Given the description of an element on the screen output the (x, y) to click on. 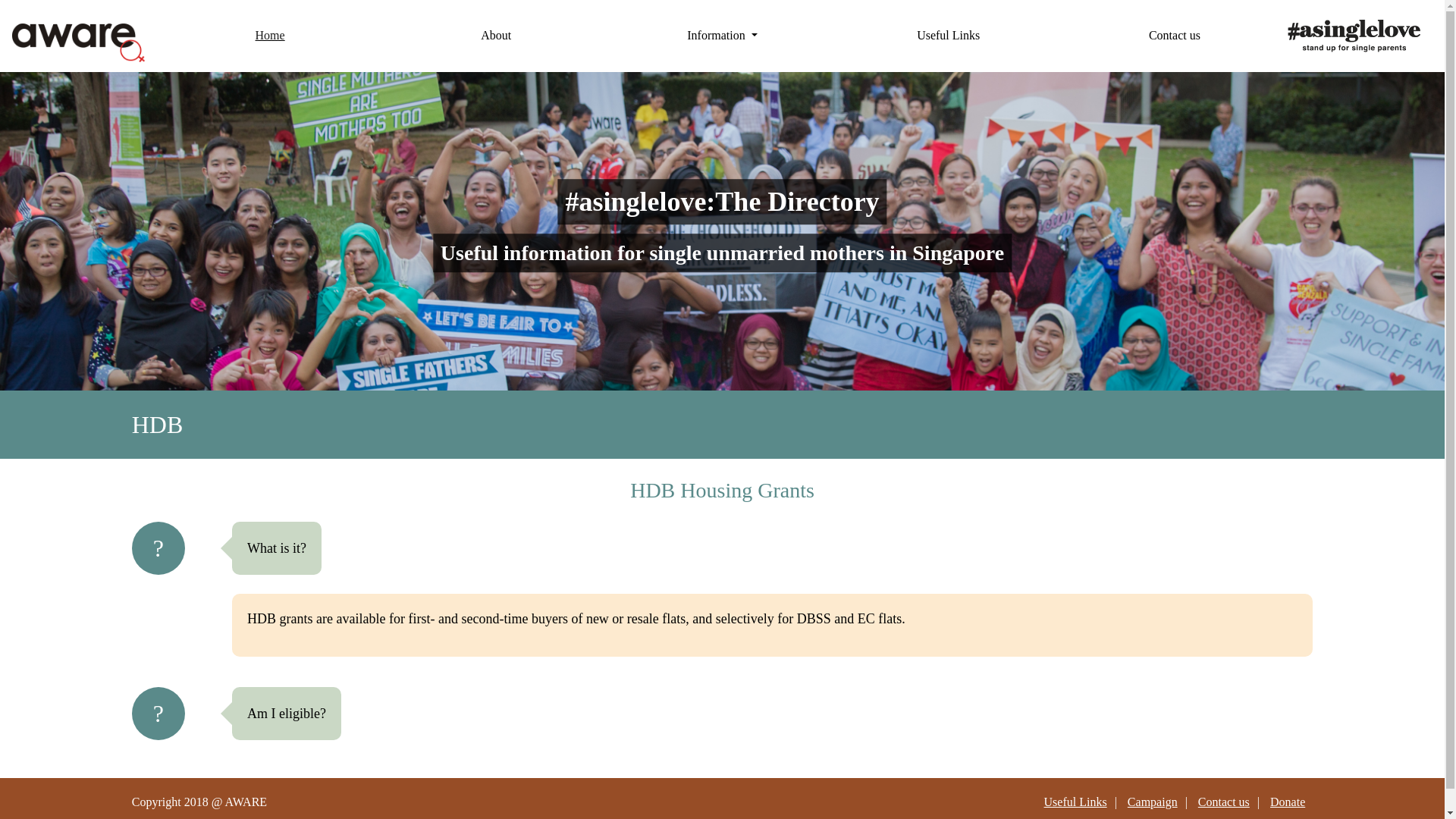
Campaign (1151, 801)
About (495, 35)
Useful Links (1074, 801)
Useful Links (948, 35)
Contact us (1223, 801)
Information (721, 35)
Donate (1286, 801)
Contact us (1174, 35)
Home (269, 35)
